Given the description of an element on the screen output the (x, y) to click on. 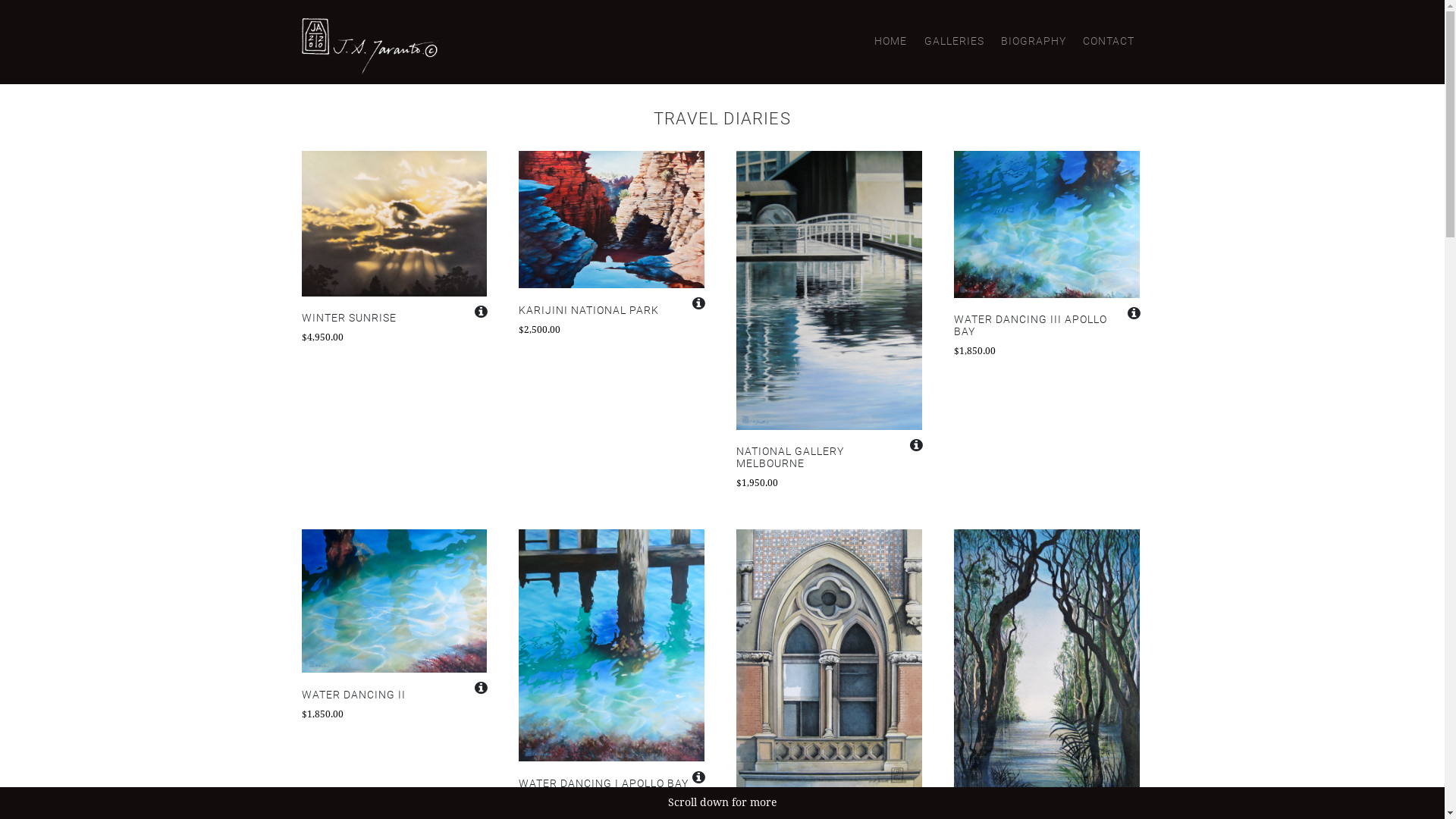
Click to preview Element type: hover (1046, 661)
Click to preview Element type: hover (611, 645)
Click to preview Element type: hover (1046, 224)
CONTACT Element type: text (1108, 41)
BIOGRAPHY Element type: text (1033, 41)
WINTER SUNRISE Element type: text (394, 318)
Click to preview Element type: hover (394, 600)
WATER DANCING I APOLLO BAY Element type: text (611, 783)
Click to preview Element type: hover (829, 289)
WATER DANCING III APOLLO BAY Element type: text (1046, 325)
WATER DANCING II Element type: text (394, 694)
Click to preview Element type: hover (394, 223)
NATIONAL GALLERY MELBOURNE Element type: text (829, 457)
GALLERIES Element type: text (953, 41)
HOME Element type: text (890, 41)
Click to preview Element type: hover (611, 219)
KARIJINI NATIONAL PARK Element type: text (611, 309)
Click to preview Element type: hover (829, 661)
